Given the description of an element on the screen output the (x, y) to click on. 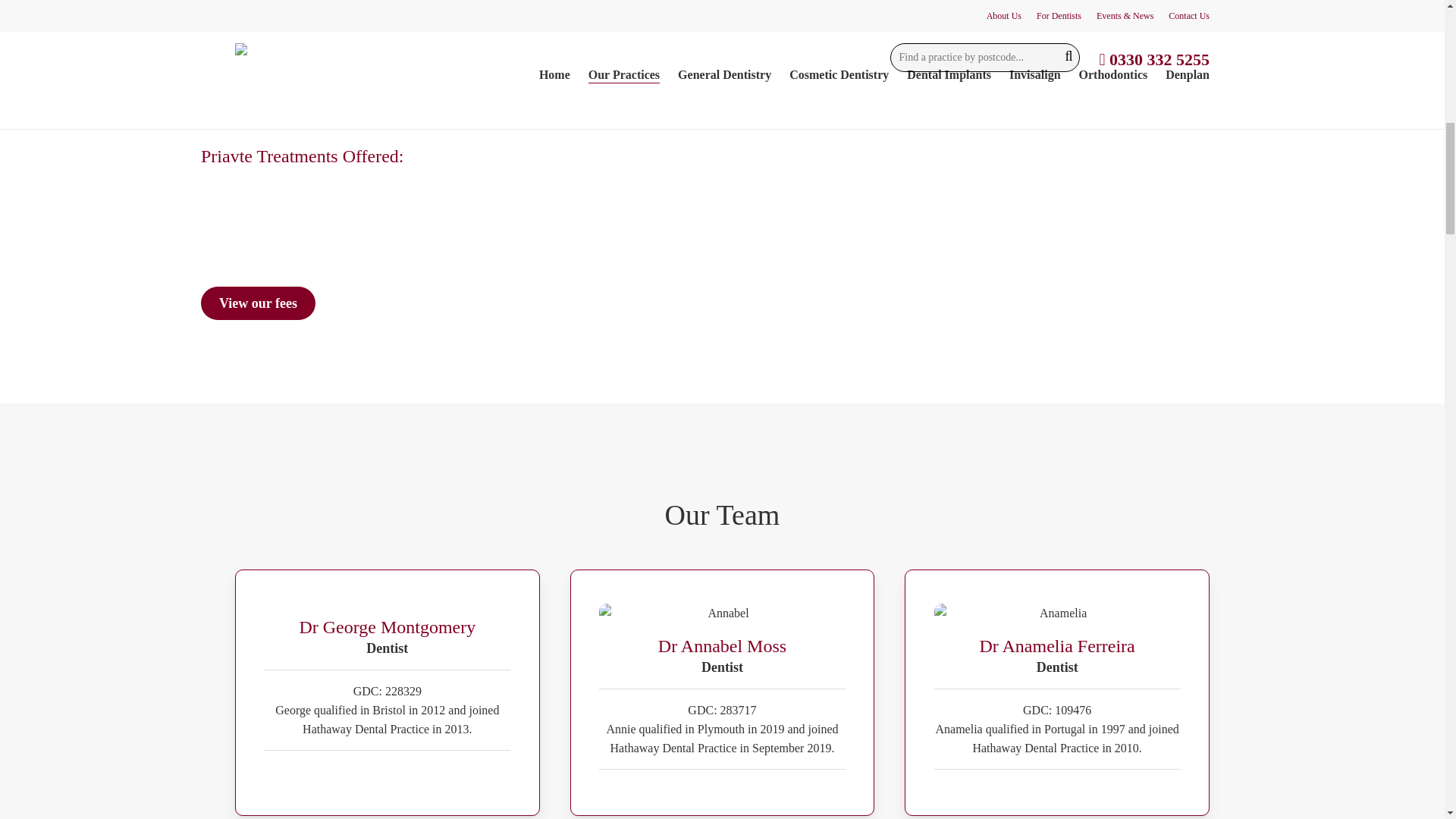
Dr Annabel Moss (721, 612)
Invisalign clear aligners (272, 75)
cosmetic treatments (561, 56)
treatments (518, 38)
Dr Anamelia Ferreira (1057, 612)
View our fees (257, 303)
